Given the description of an element on the screen output the (x, y) to click on. 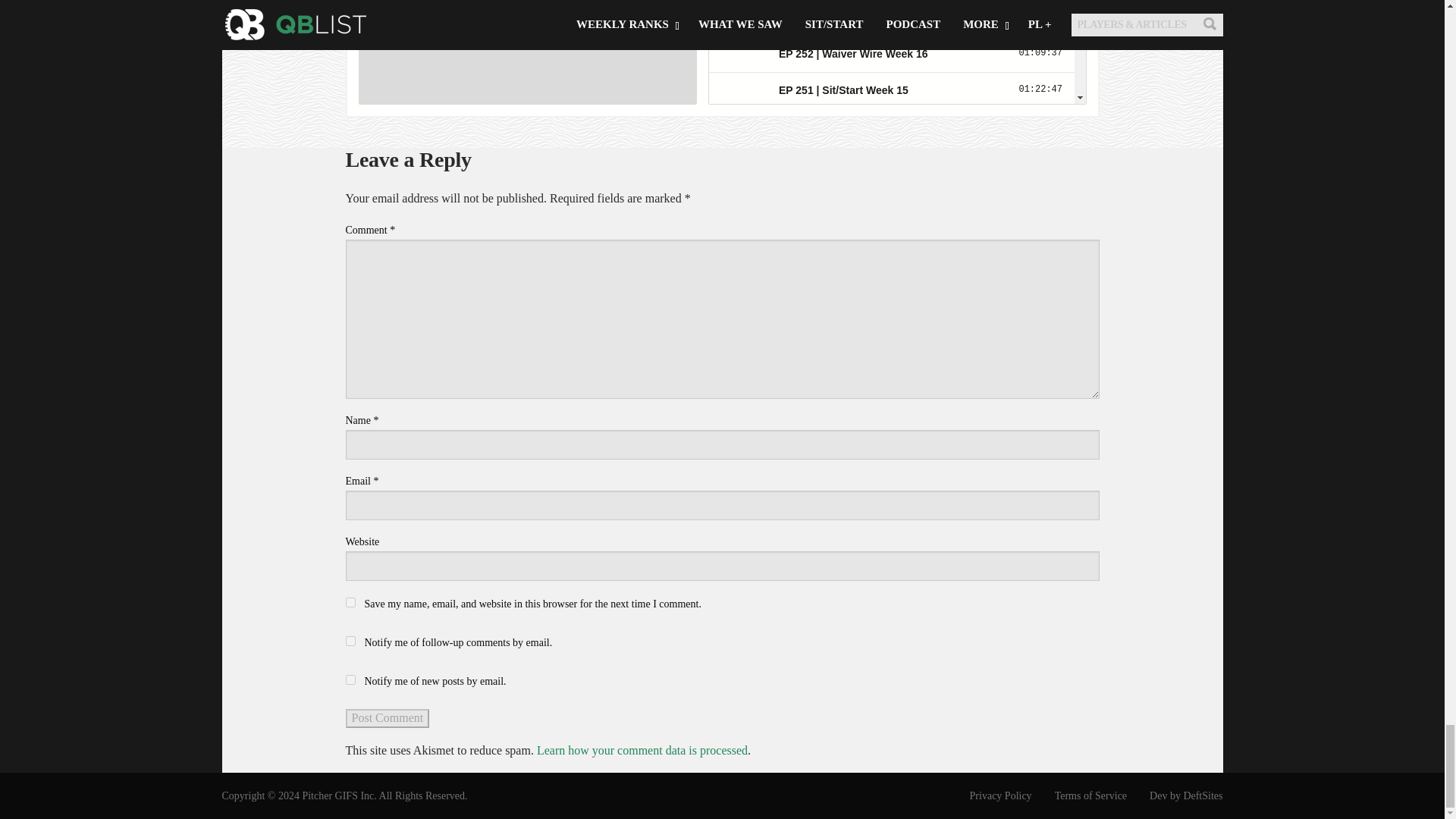
subscribe (350, 679)
subscribe (350, 641)
yes (350, 602)
Post Comment (387, 718)
